Given the description of an element on the screen output the (x, y) to click on. 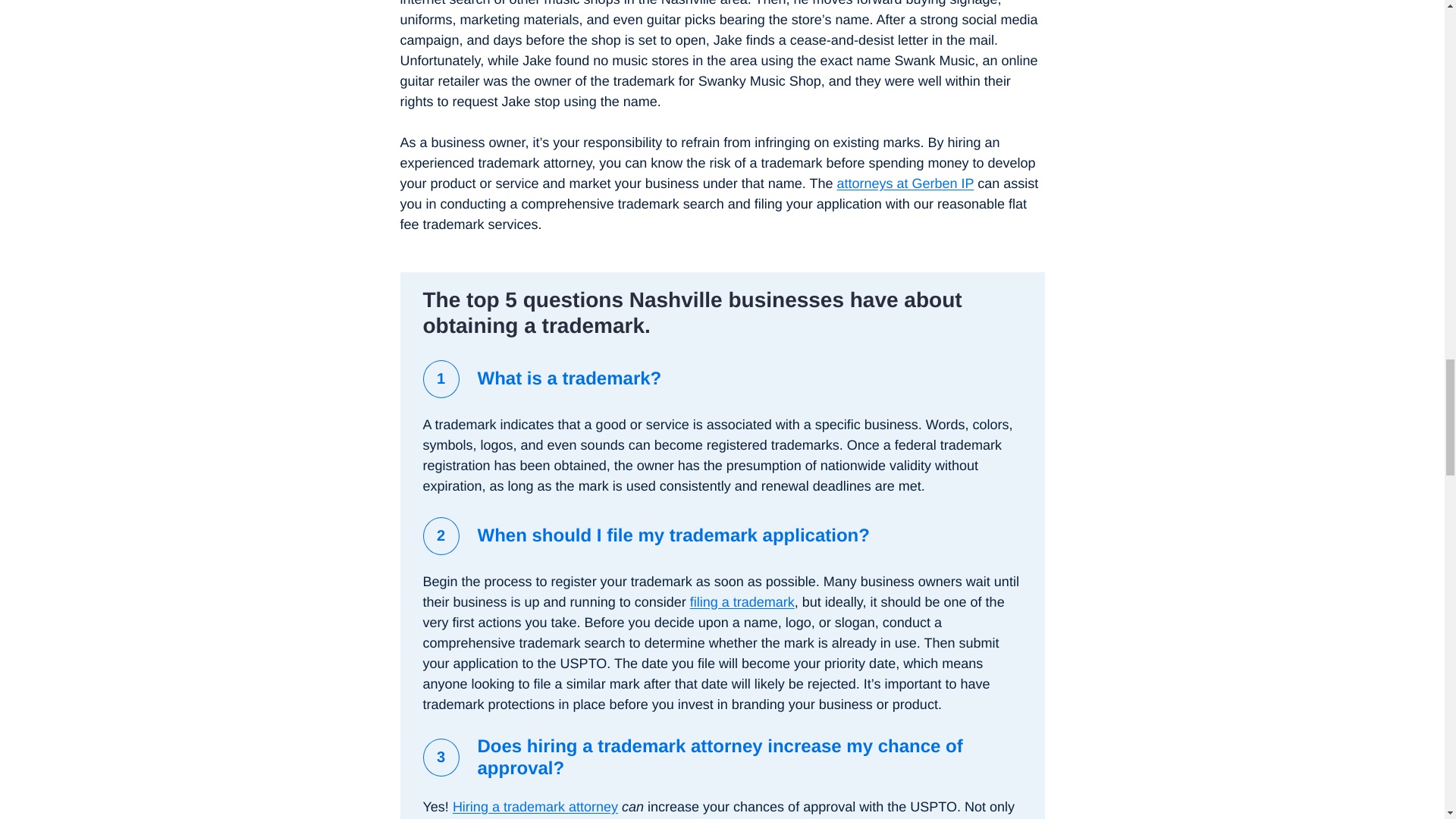
filing a trademark (742, 601)
